Given the description of an element on the screen output the (x, y) to click on. 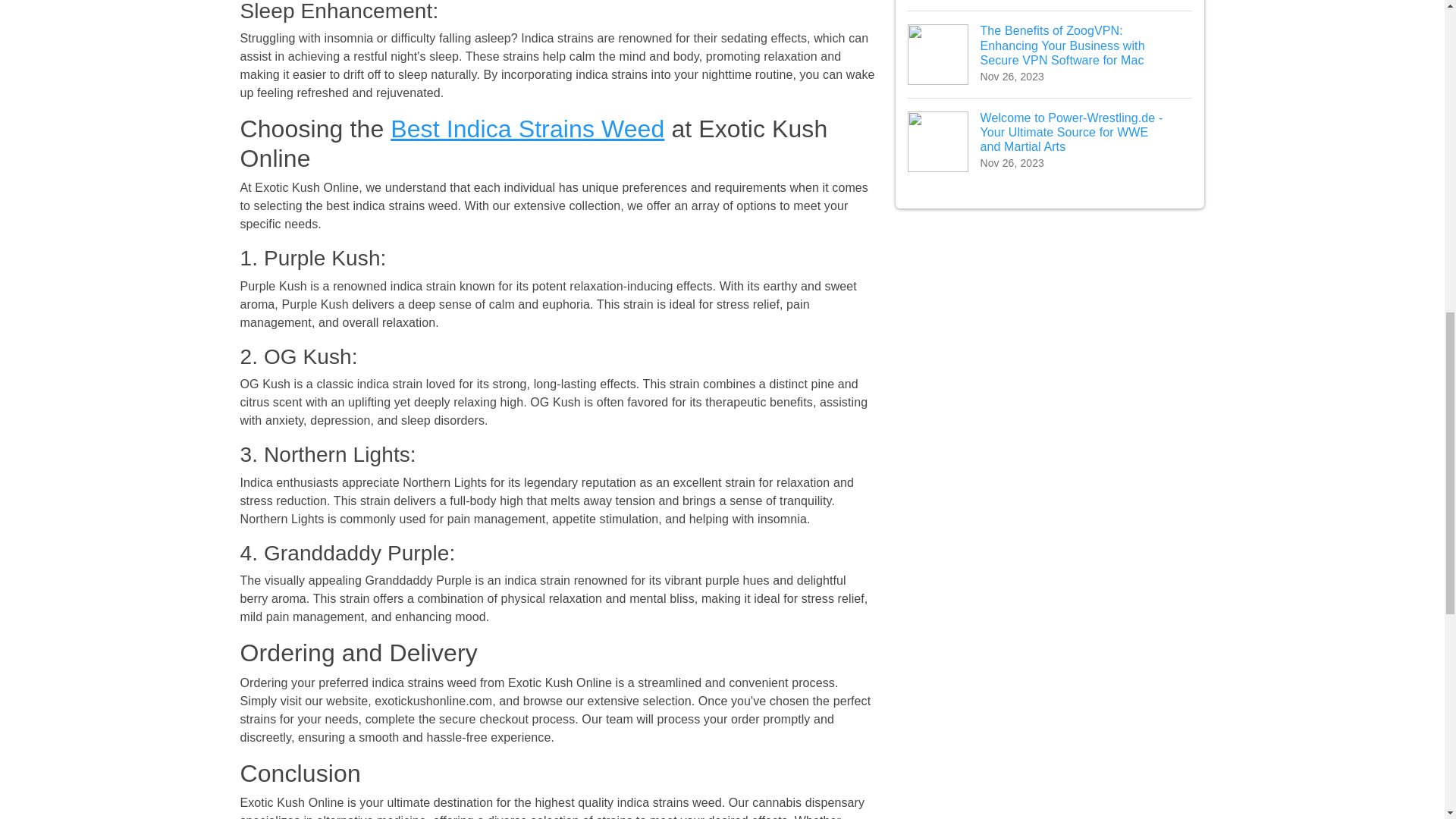
Best Indica Strains Weed (526, 128)
